Given the description of an element on the screen output the (x, y) to click on. 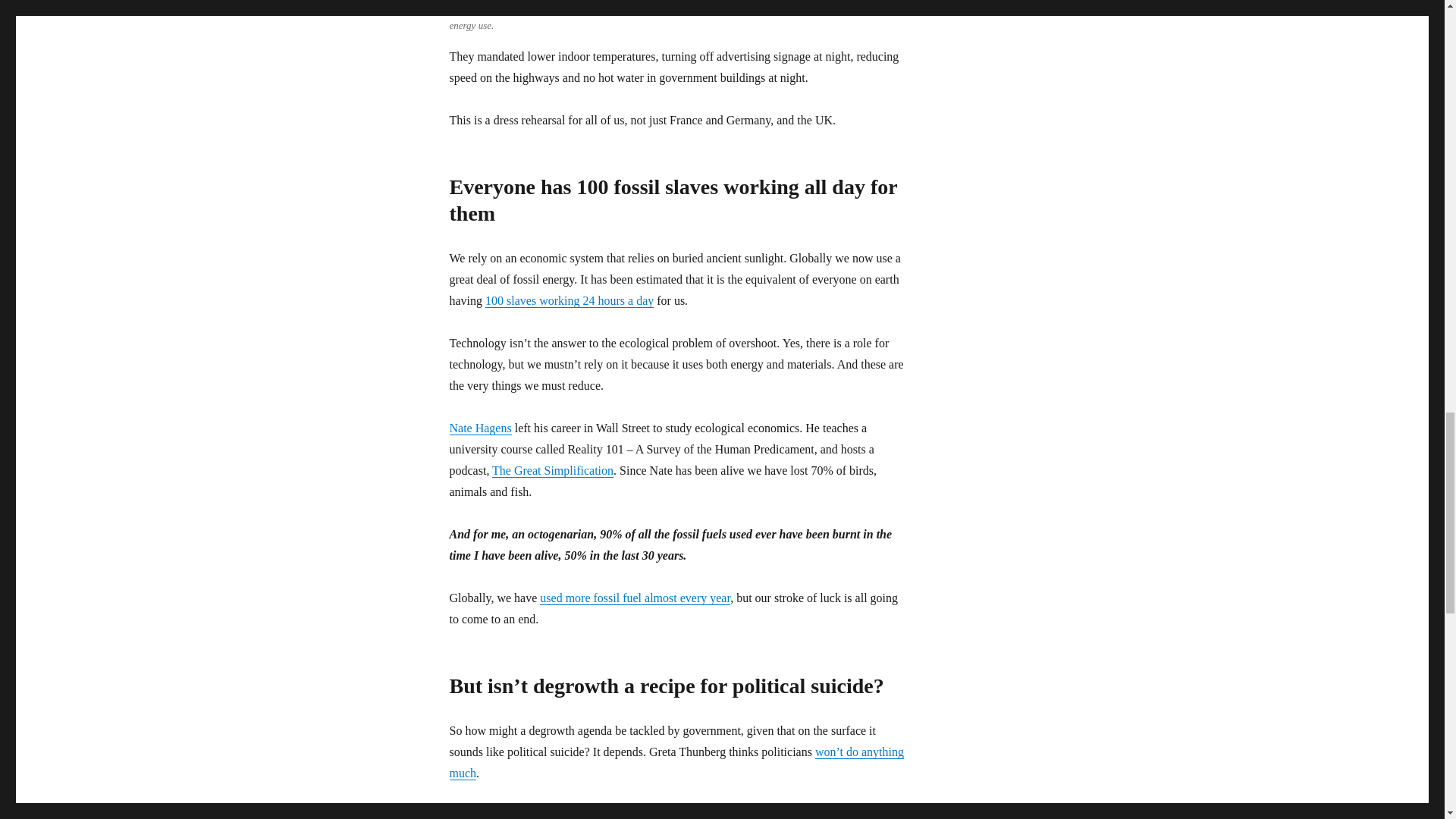
The Great Simplification (552, 470)
used more fossil fuel almost every year (635, 597)
100 slaves working 24 hours a day (568, 300)
Nate Hagens (479, 427)
